Given the description of an element on the screen output the (x, y) to click on. 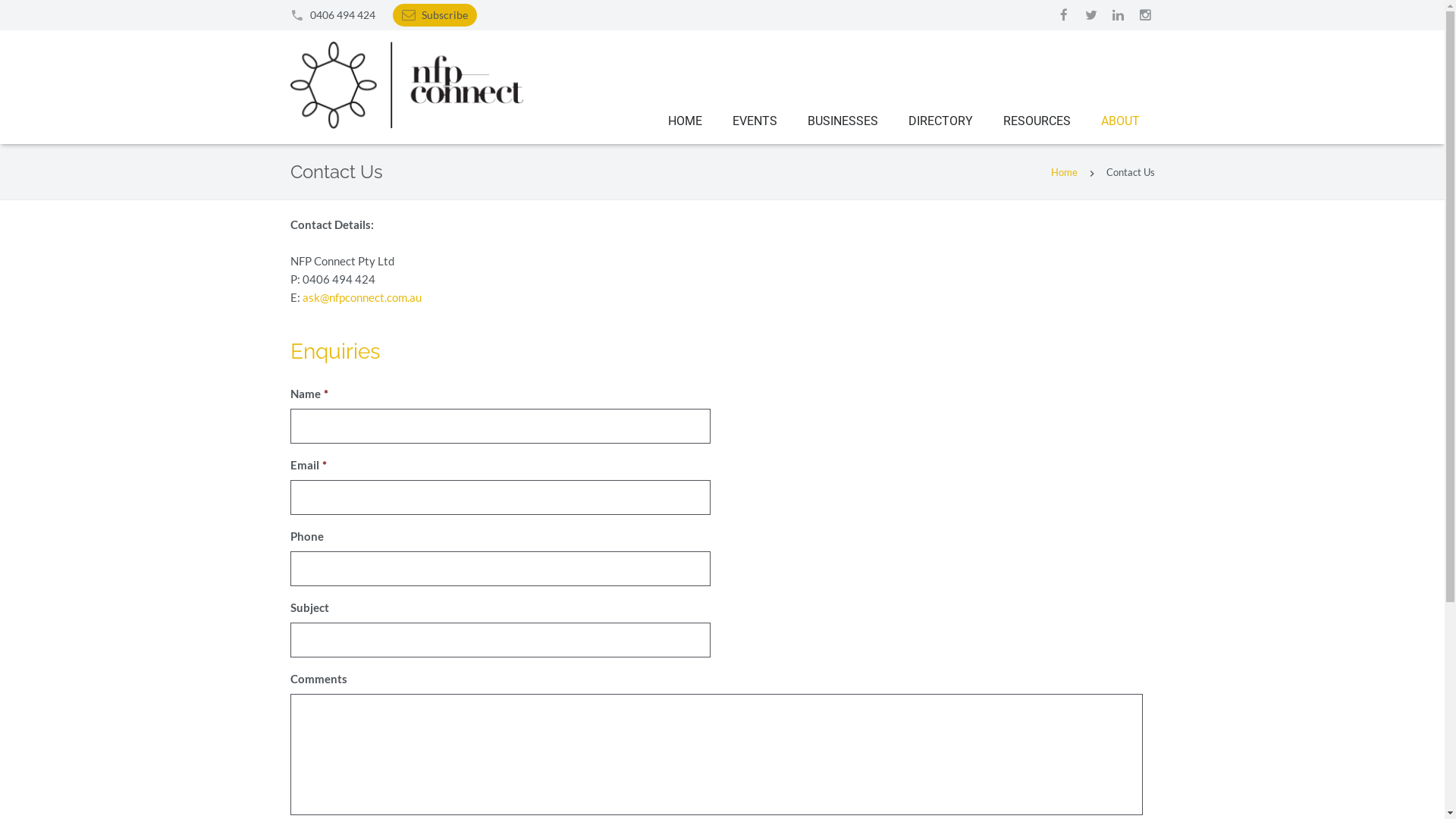
HOME Element type: text (684, 121)
ask@nfpconnect.com.au Element type: text (360, 297)
Home Element type: text (1064, 172)
RESOURCES Element type: text (1036, 121)
EVENTS Element type: text (754, 121)
Subscribe Element type: text (444, 14)
DIRECTORY Element type: text (940, 121)
ABOUT Element type: text (1119, 121)
BUSINESSES Element type: text (841, 121)
